Given the description of an element on the screen output the (x, y) to click on. 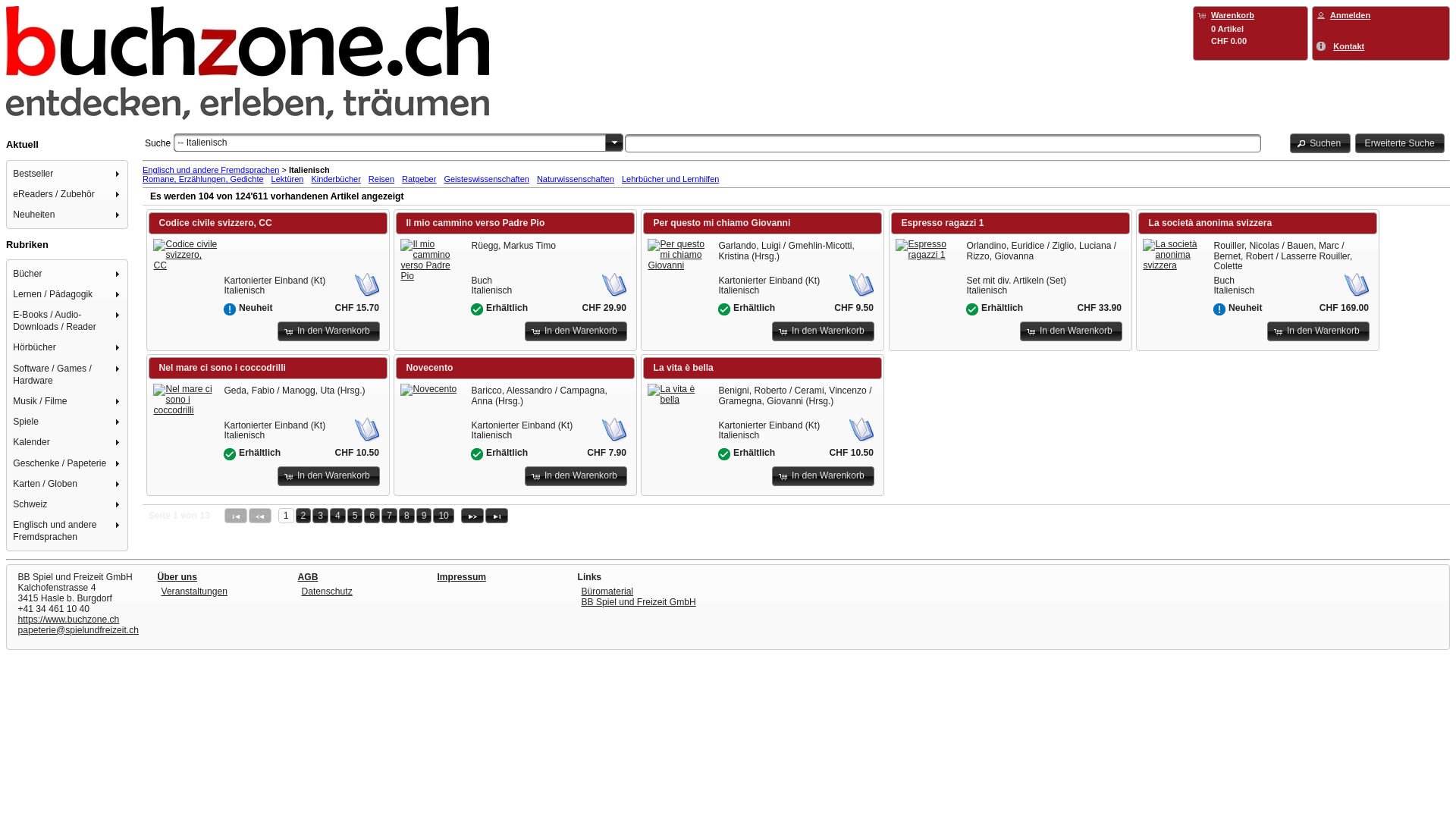
Neuheiten Element type: text (67, 214)
Der Artikel ist lieferbar. Element type: hover (724, 309)
Schweiz Element type: text (67, 504)
Artikel anzeigen Element type: hover (679, 254)
In den Warenkorb Element type: text (575, 476)
Kalender Element type: text (67, 442)
Software / Games / Hardware Element type: text (67, 373)
Artikel anzeigen Element type: hover (184, 399)
Diverse Element type: hover (1109, 284)
In den Warenkorb Element type: text (1318, 331)
Reisen Element type: text (381, 178)
Anmelden Element type: text (1350, 14)
Der Artikel ist lieferbar. Element type: hover (724, 454)
Artikel anzeigen Element type: hover (428, 389)
Buch Element type: hover (861, 284)
Veranstaltungen Element type: text (193, 591)
Englisch und andere Fremdsprachen Element type: text (67, 530)
Geschenke / Papeterie Element type: text (67, 462)
https://www.buchzone.ch Element type: text (68, 619)
Spiele Element type: text (67, 421)
Buch Element type: hover (614, 284)
Artikel anzeigen Element type: hover (927, 249)
Datenschutz Element type: text (326, 591)
Musik / Filme Element type: text (67, 400)
Ratgeber Element type: text (418, 178)
Artikel anzeigen Element type: hover (184, 254)
Artikel anzeigen Element type: hover (1174, 254)
Impressum Element type: text (461, 576)
Der Artikel ist lieferbar. Element type: hover (476, 309)
In den Warenkorb Element type: text (1070, 331)
Buch Element type: hover (366, 429)
Der Artikel ist lieferbar. Element type: hover (476, 454)
Buch Element type: hover (861, 429)
Geisteswissenschaften Element type: text (486, 178)
Bestseller Element type: text (67, 172)
Buch Element type: hover (614, 429)
AGB Element type: text (307, 576)
In den Warenkorb Element type: text (328, 476)
Buch Element type: hover (1356, 284)
Kontakt Element type: text (1348, 45)
Erweiterte Suche Element type: text (1399, 143)
In den Warenkorb Element type: text (328, 331)
E-Books / Audio-Downloads / Reader Element type: text (67, 320)
Der Artikel ist lieferbar. Element type: hover (972, 309)
In den Warenkorb Element type: text (575, 331)
Der Artikel ist lieferbar. Element type: hover (229, 454)
papeterie@spielundfreizeit.ch Element type: text (78, 629)
In den Warenkorb Element type: text (822, 476)
Suchen Element type: text (1320, 143)
BB Spiel und Freizeit GmbH Element type: text (637, 601)
In den Warenkorb Element type: text (822, 331)
Warenkorb
0 Artikel
CHF 0.00 Element type: text (1250, 26)
Naturwissenschaften Element type: text (575, 178)
Artikel anzeigen Element type: hover (679, 393)
Englisch und andere Fremdsprachen Element type: text (210, 169)
Karten / Globen Element type: text (67, 482)
Artikel anzeigen Element type: hover (432, 259)
Buch Element type: hover (366, 284)
